Given the description of an element on the screen output the (x, y) to click on. 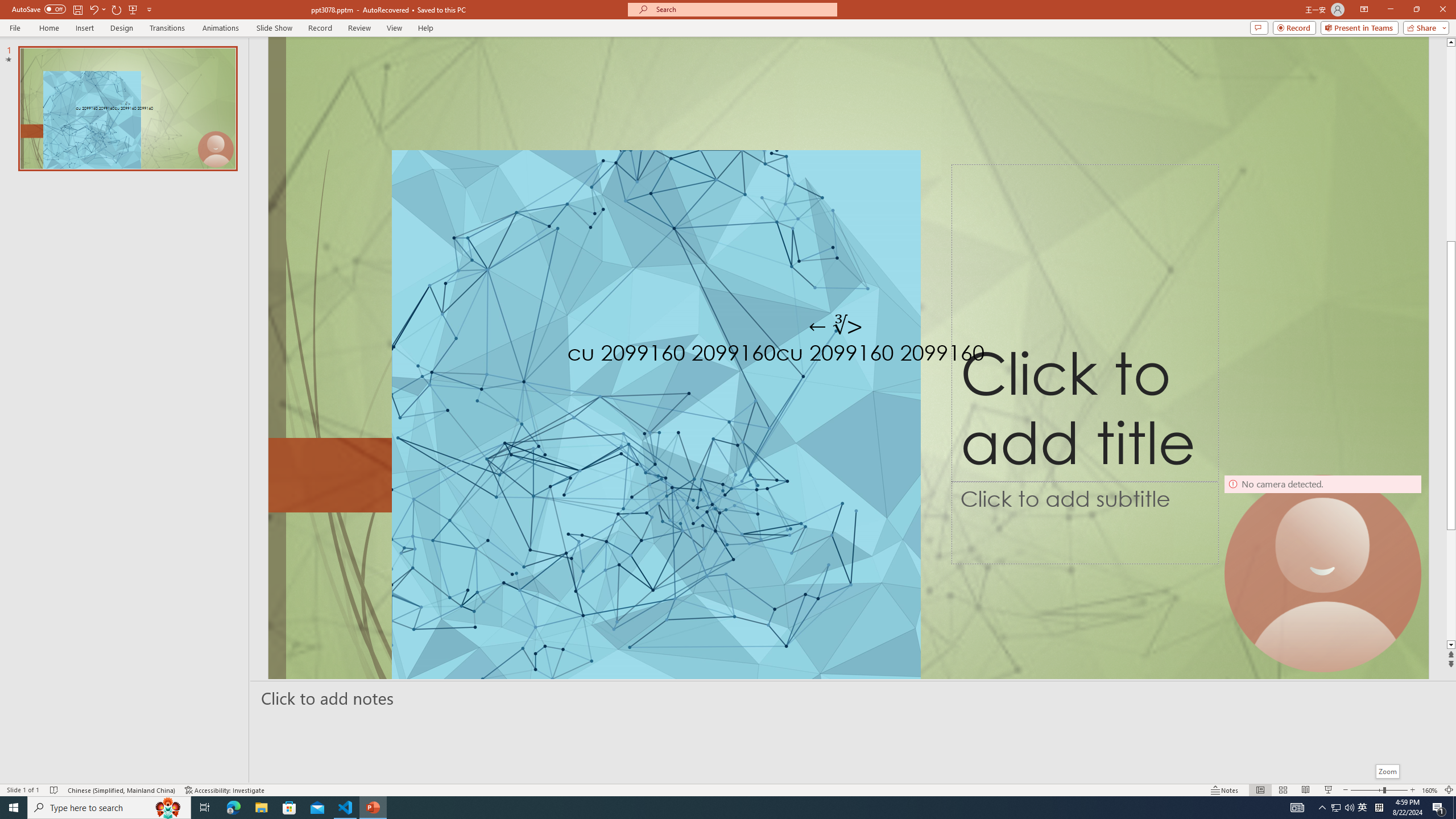
TextBox 61 (845, 355)
TextBox 7 (836, 326)
An abstract genetic concept (847, 357)
